Given the description of an element on the screen output the (x, y) to click on. 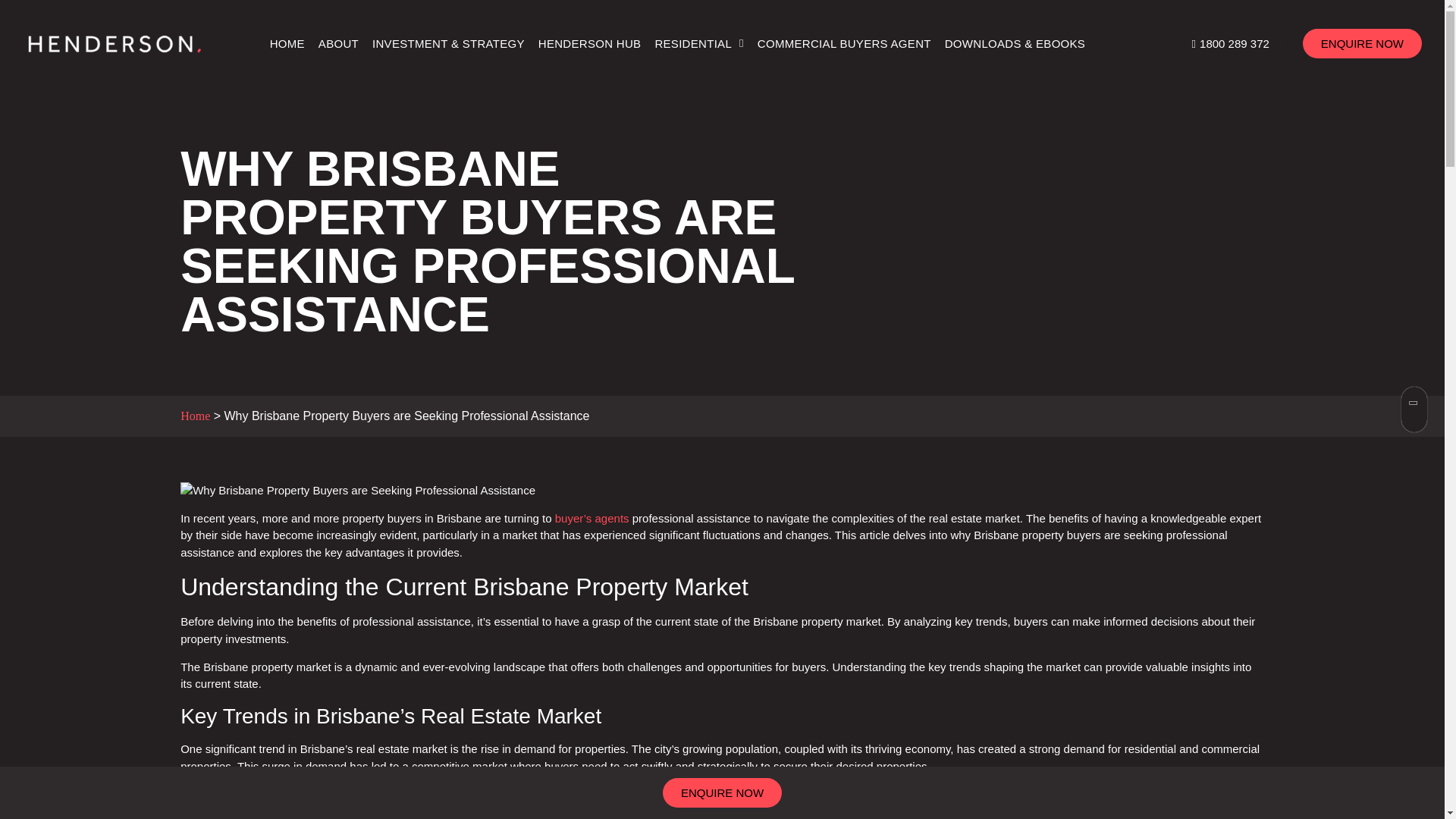
Home (194, 415)
RESIDENTIAL (698, 43)
HENDERSON HUB (589, 43)
1800 289 372 (1230, 43)
ENQUIRE NOW (1362, 43)
COMMERCIAL BUYERS AGENT (844, 43)
HOME (287, 43)
ABOUT (338, 43)
